Given the description of an element on the screen output the (x, y) to click on. 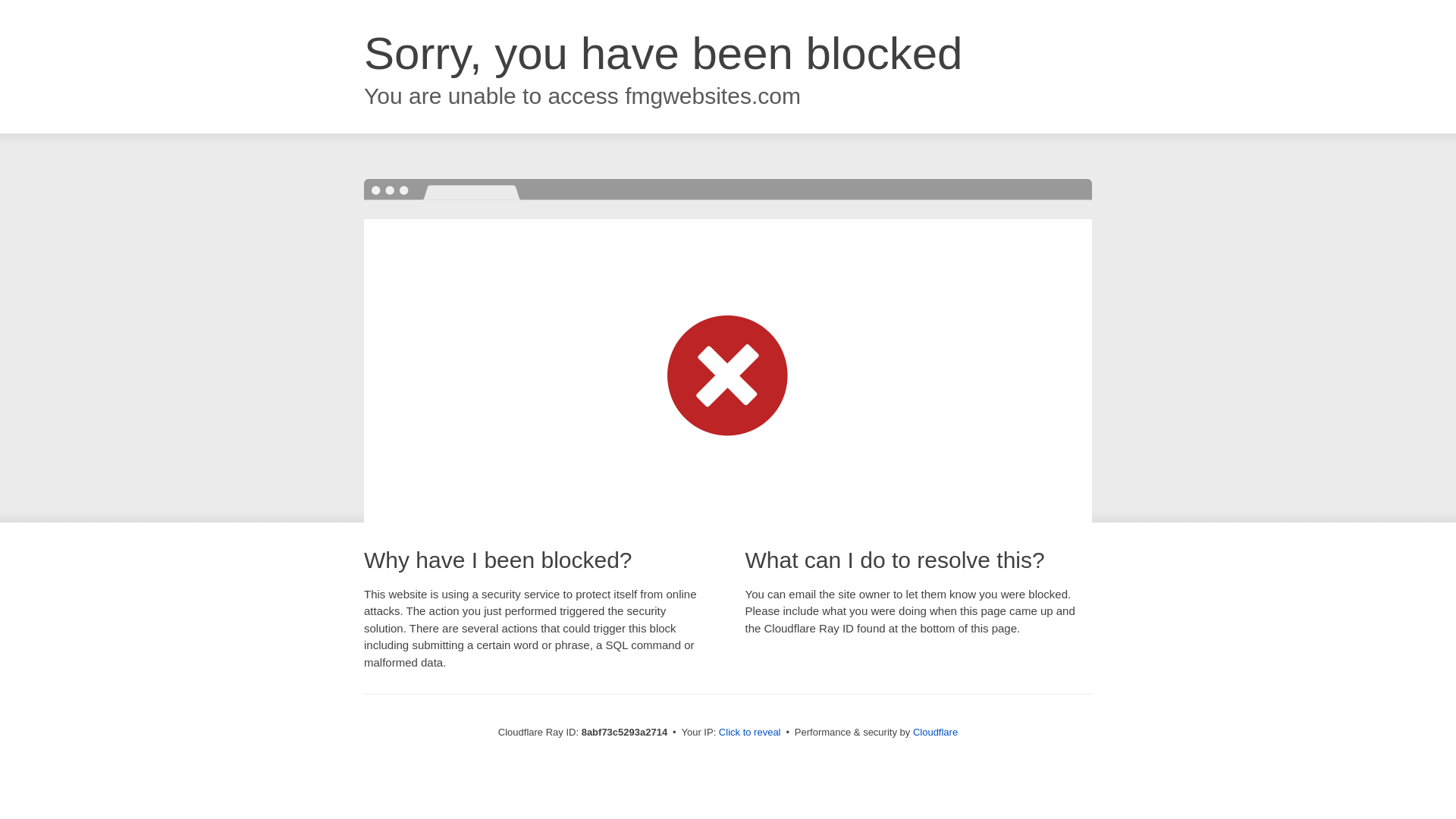
Click to reveal (749, 732)
Cloudflare (935, 731)
